Given the description of an element on the screen output the (x, y) to click on. 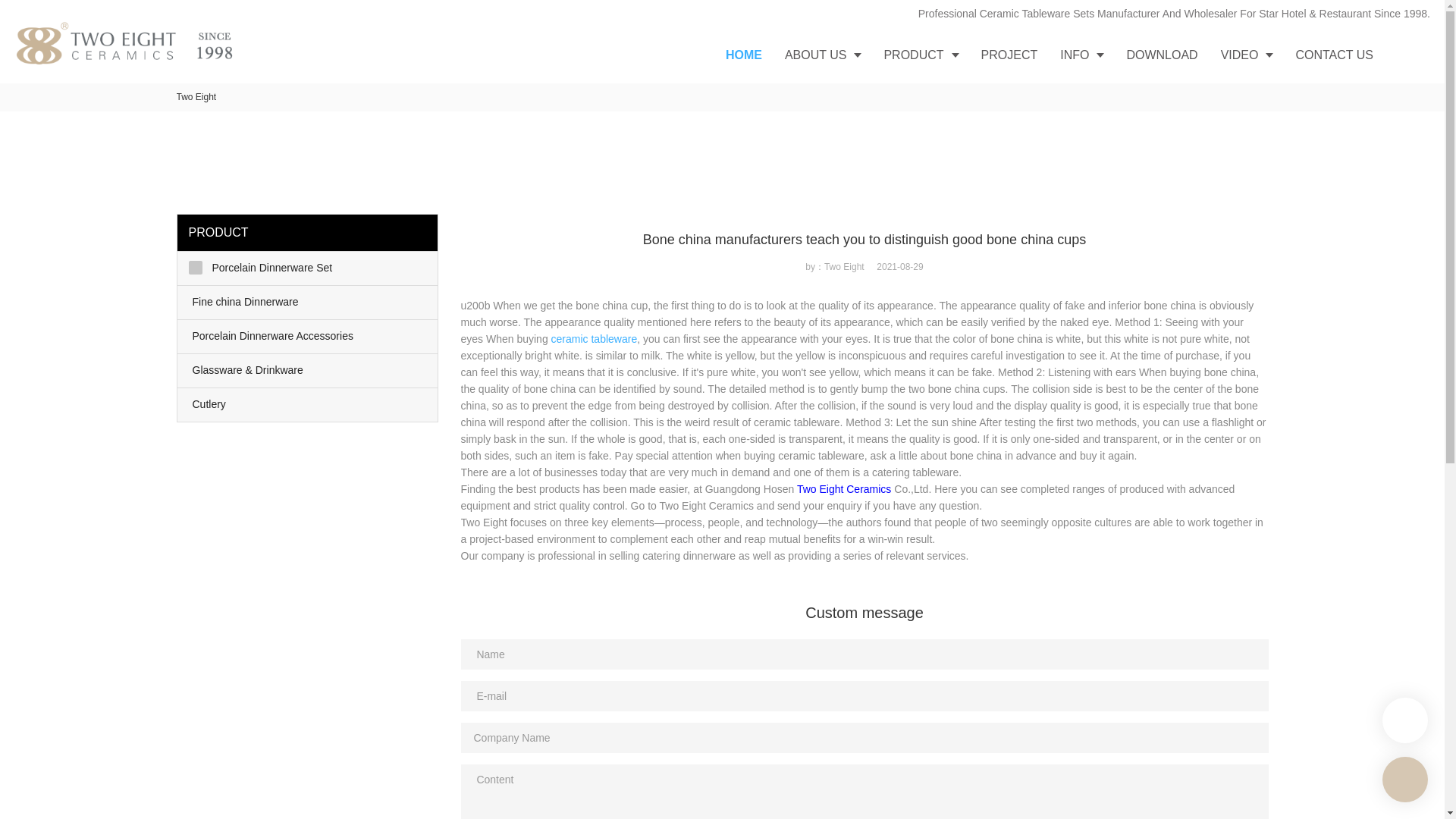
ceramic tableware (594, 338)
PROJECT (1009, 55)
INFO (1081, 55)
CONTACT US (1334, 55)
PRODUCT (920, 55)
Fine china Dinnerware (307, 302)
Two Eight (195, 96)
VIDEO (1246, 55)
DOWNLOAD (1161, 55)
Porcelain Dinnerware Accessories (307, 336)
